Given the description of an element on the screen output the (x, y) to click on. 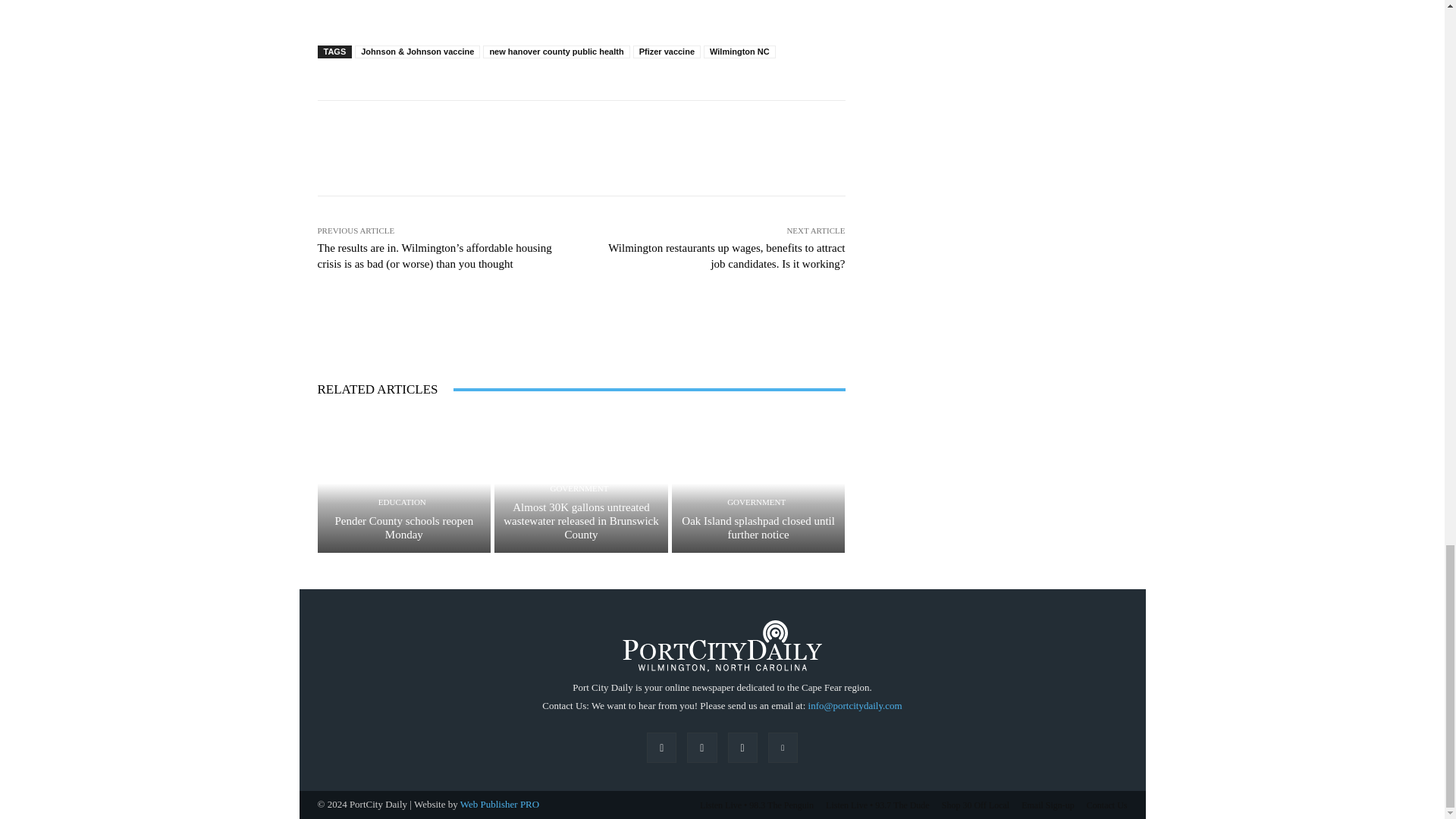
Pender County schools reopen Monday (403, 527)
Pender County schools reopen Monday (403, 483)
